Given the description of an element on the screen output the (x, y) to click on. 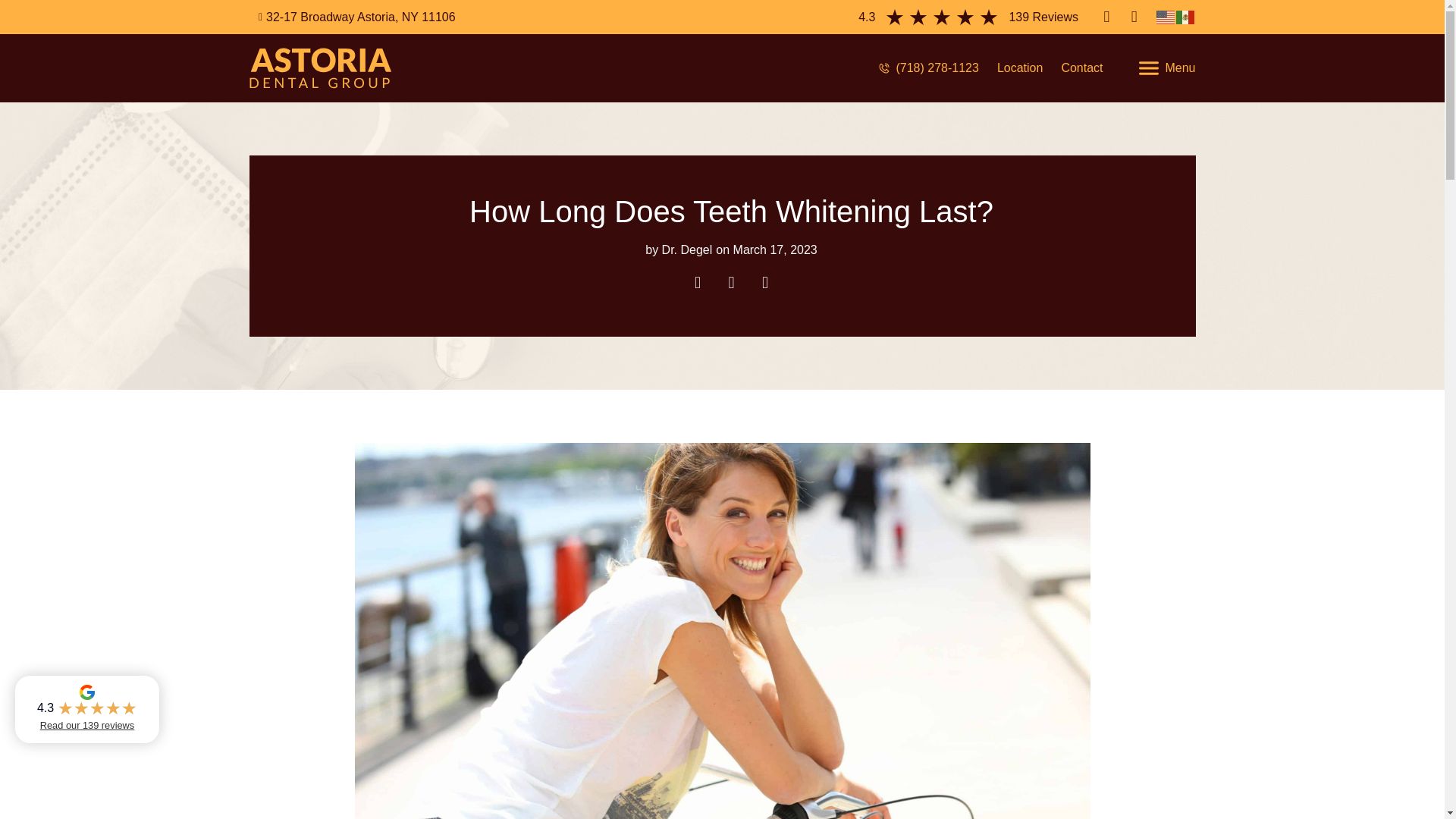
English (1165, 16)
32-17 Broadway Astoria, NY 11106 (351, 17)
Spanish (1184, 16)
Contact (1081, 67)
Menu (1166, 67)
Location (1020, 67)
